Given the description of an element on the screen output the (x, y) to click on. 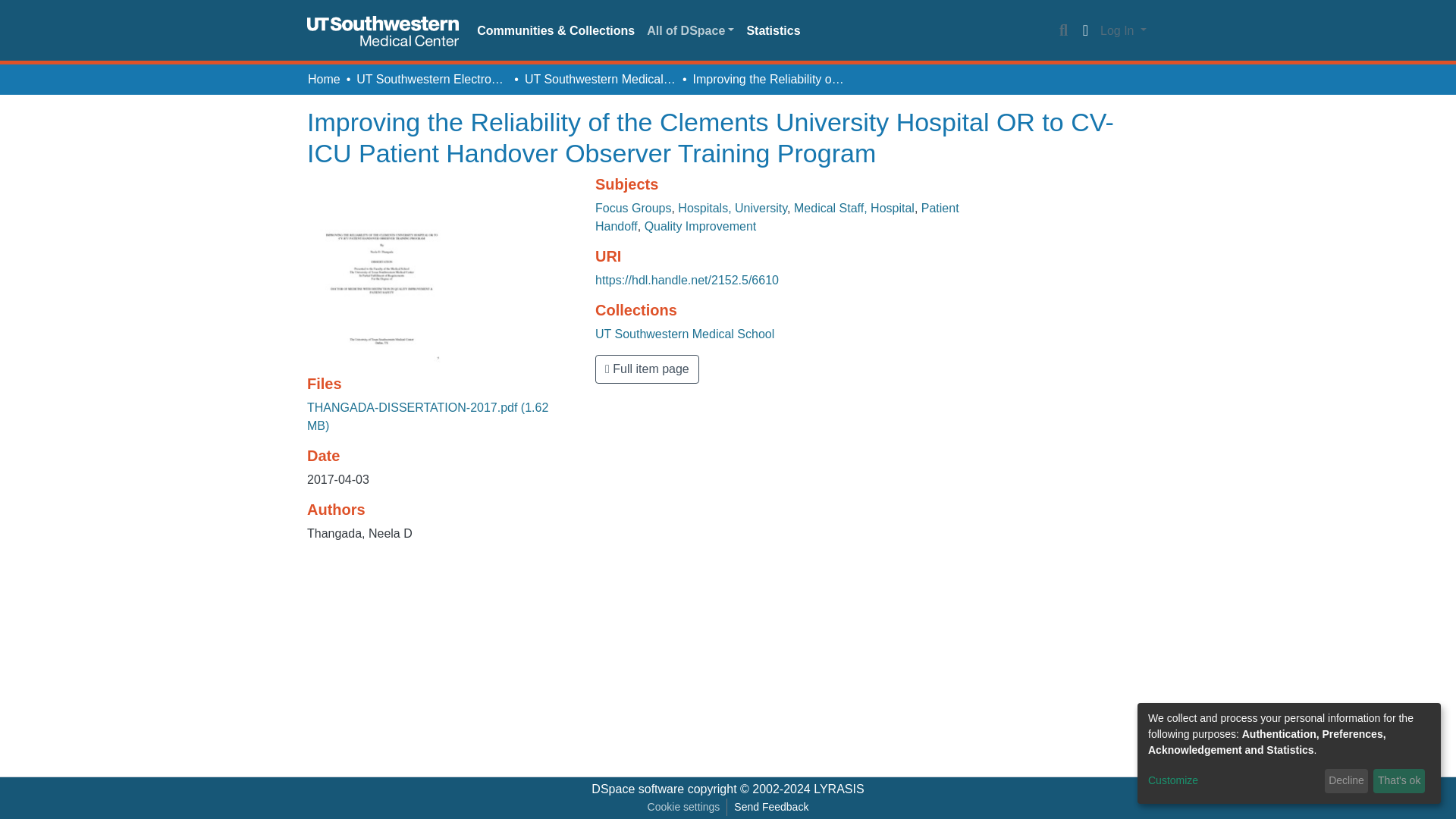
Log In (1122, 30)
UT Southwestern Electronic Theses and Dissertations (432, 79)
UT Southwestern Medical School (600, 79)
All of DSpace (689, 30)
UT Southwestern Medical School (684, 333)
Quality Improvement (701, 226)
That's ok (1399, 781)
Statistics (772, 30)
Patient Handoff (777, 216)
Home (323, 79)
